Given the description of an element on the screen output the (x, y) to click on. 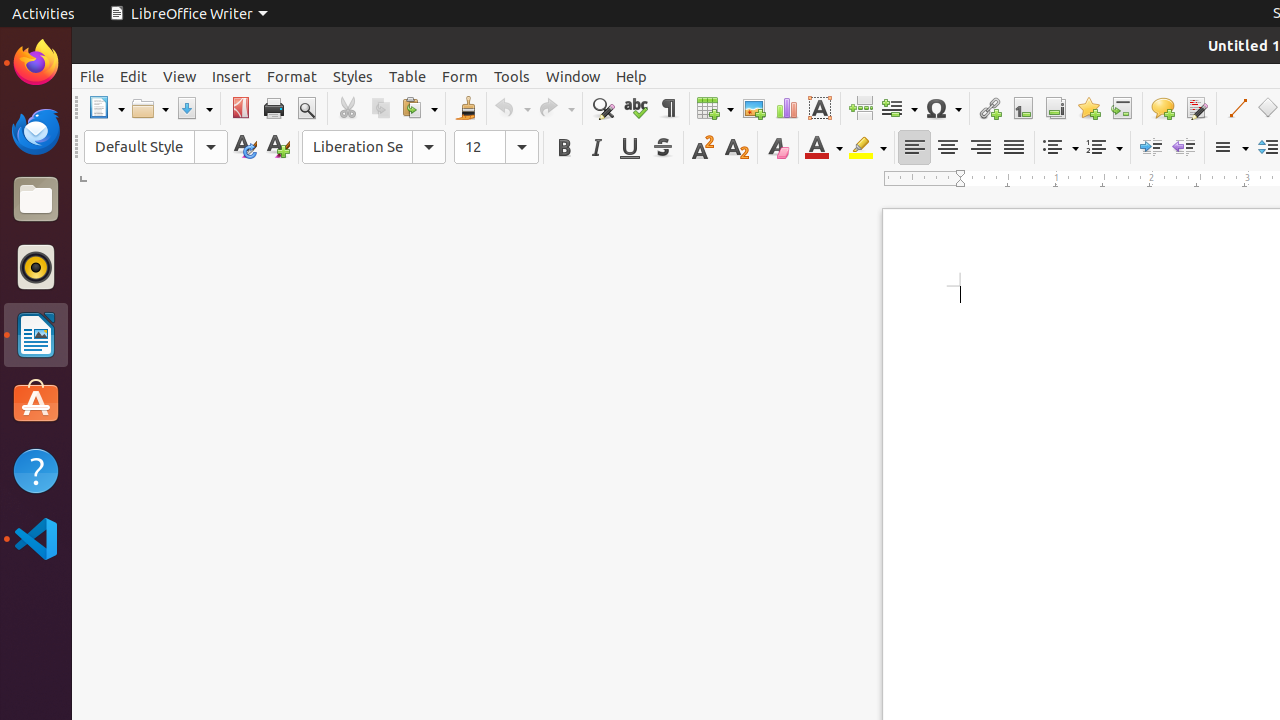
Left Element type: toggle-button (914, 147)
New Element type: push-button (277, 147)
Italic Element type: toggle-button (596, 147)
Bullets Element type: push-button (1060, 147)
Print Element type: push-button (273, 108)
